Given the description of an element on the screen output the (x, y) to click on. 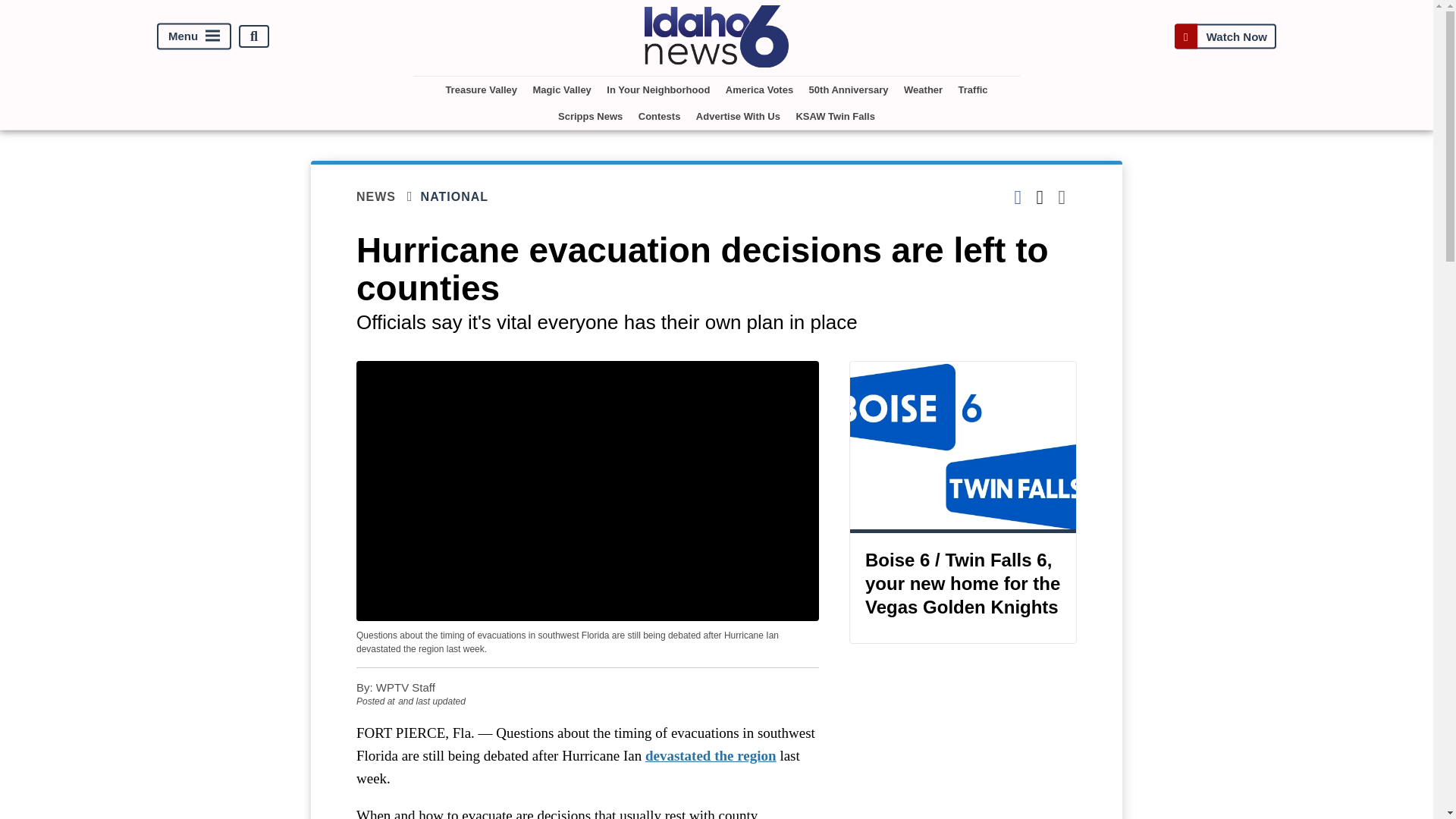
Watch Now (1224, 36)
Menu (194, 36)
